Given the description of an element on the screen output the (x, y) to click on. 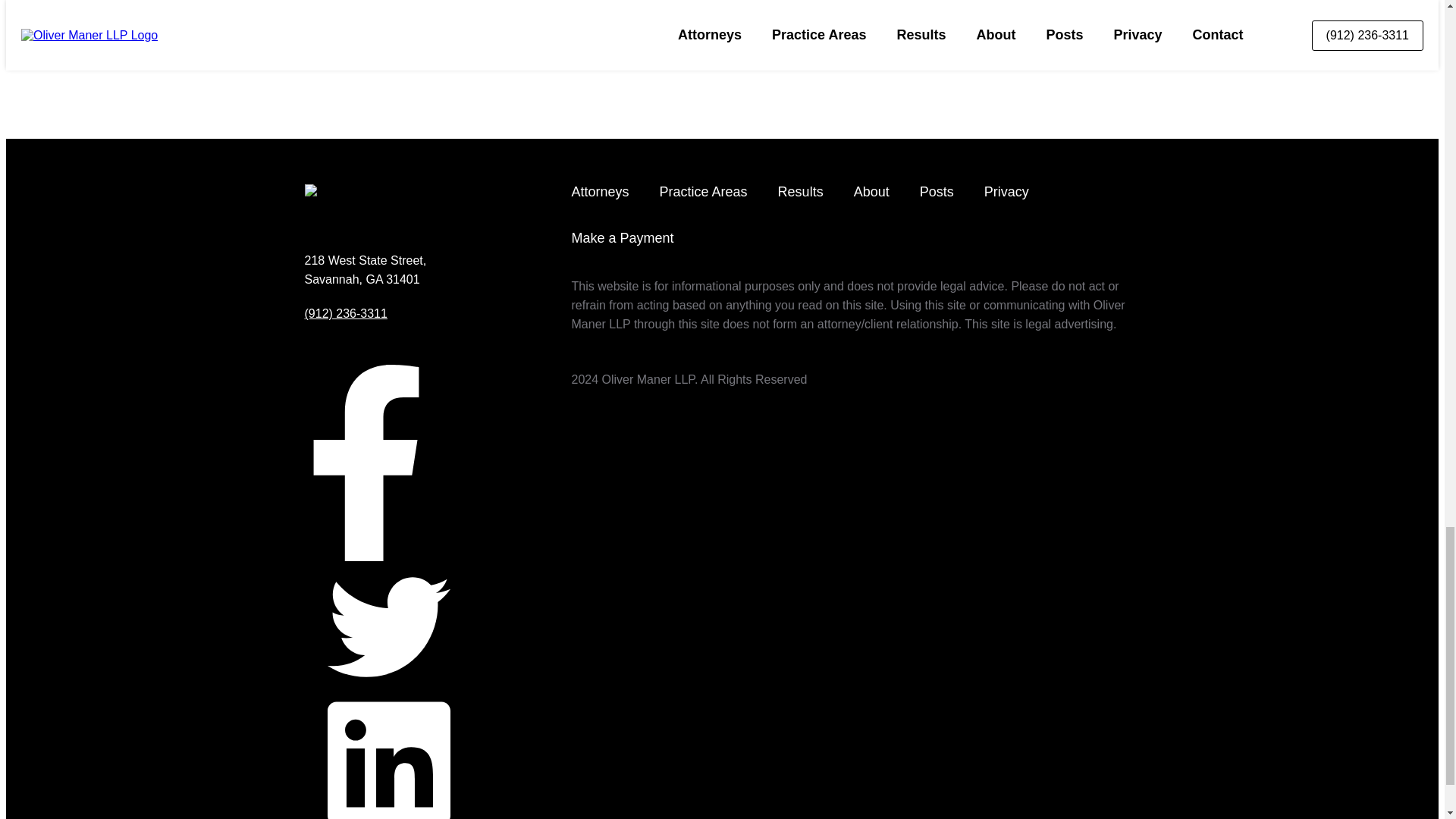
About (871, 191)
Attorneys (600, 191)
Results (800, 191)
Posts (936, 191)
Practice Areas (703, 191)
